Given the description of an element on the screen output the (x, y) to click on. 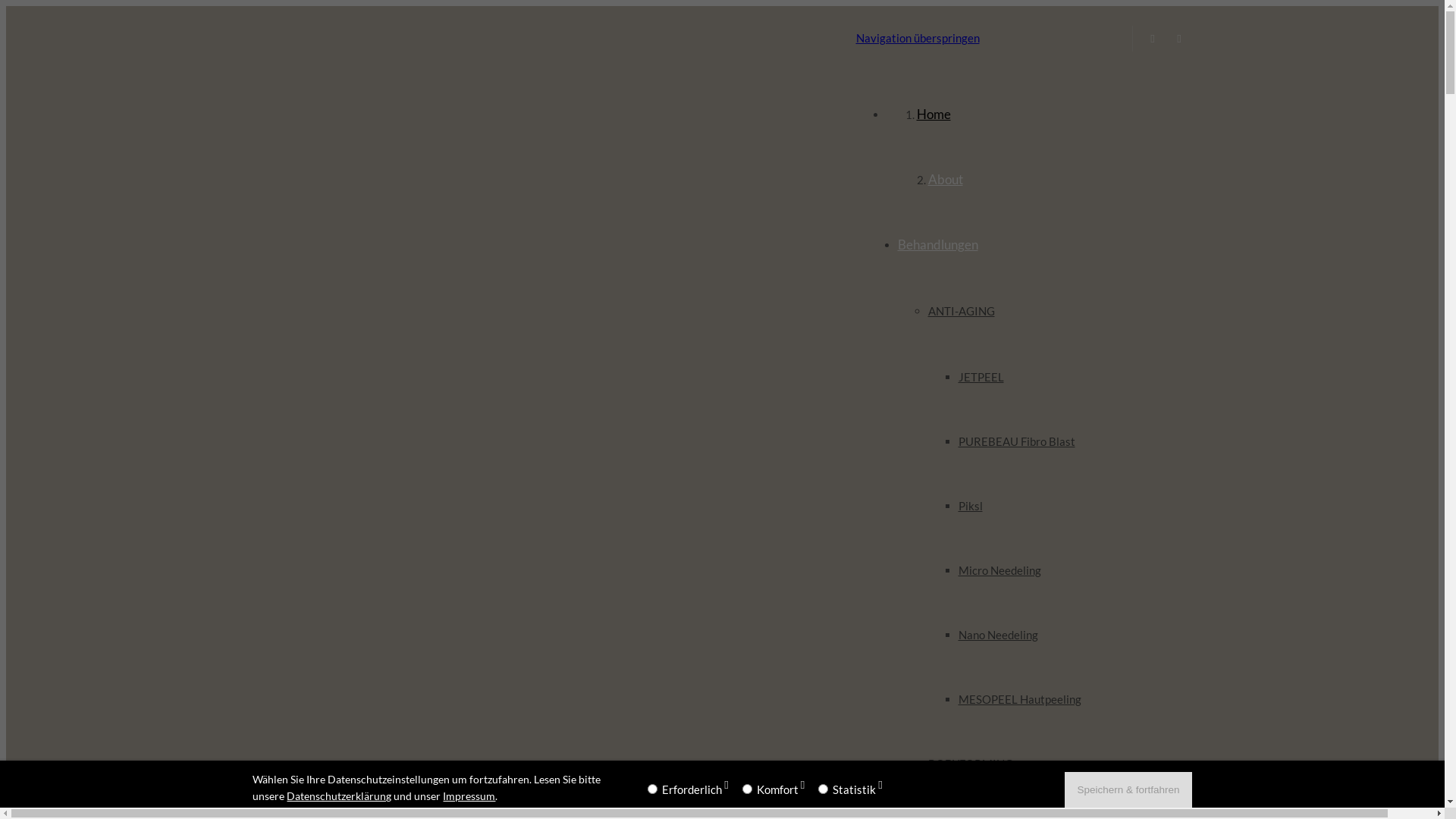
Open mobile navigation Element type: hover (419, 37)
  Element type: text (419, 37)
Nano Needeling Element type: text (998, 634)
Impressum Element type: text (468, 796)
Home Element type: text (933, 114)
Speichern & fortfahren Element type: text (1127, 789)
Behandlungen Element type: text (937, 244)
About Element type: text (945, 179)
Piksl Element type: text (970, 505)
PUREBEAU Fibro Blast Element type: text (1016, 441)
ANTI-AGING Element type: text (961, 310)
MESOPEEL Hautpeeling Element type: text (1019, 699)
Micro Needeling Element type: text (999, 570)
JETPEEL Element type: text (981, 376)
BODYFORMING Element type: text (970, 763)
